Given the description of an element on the screen output the (x, y) to click on. 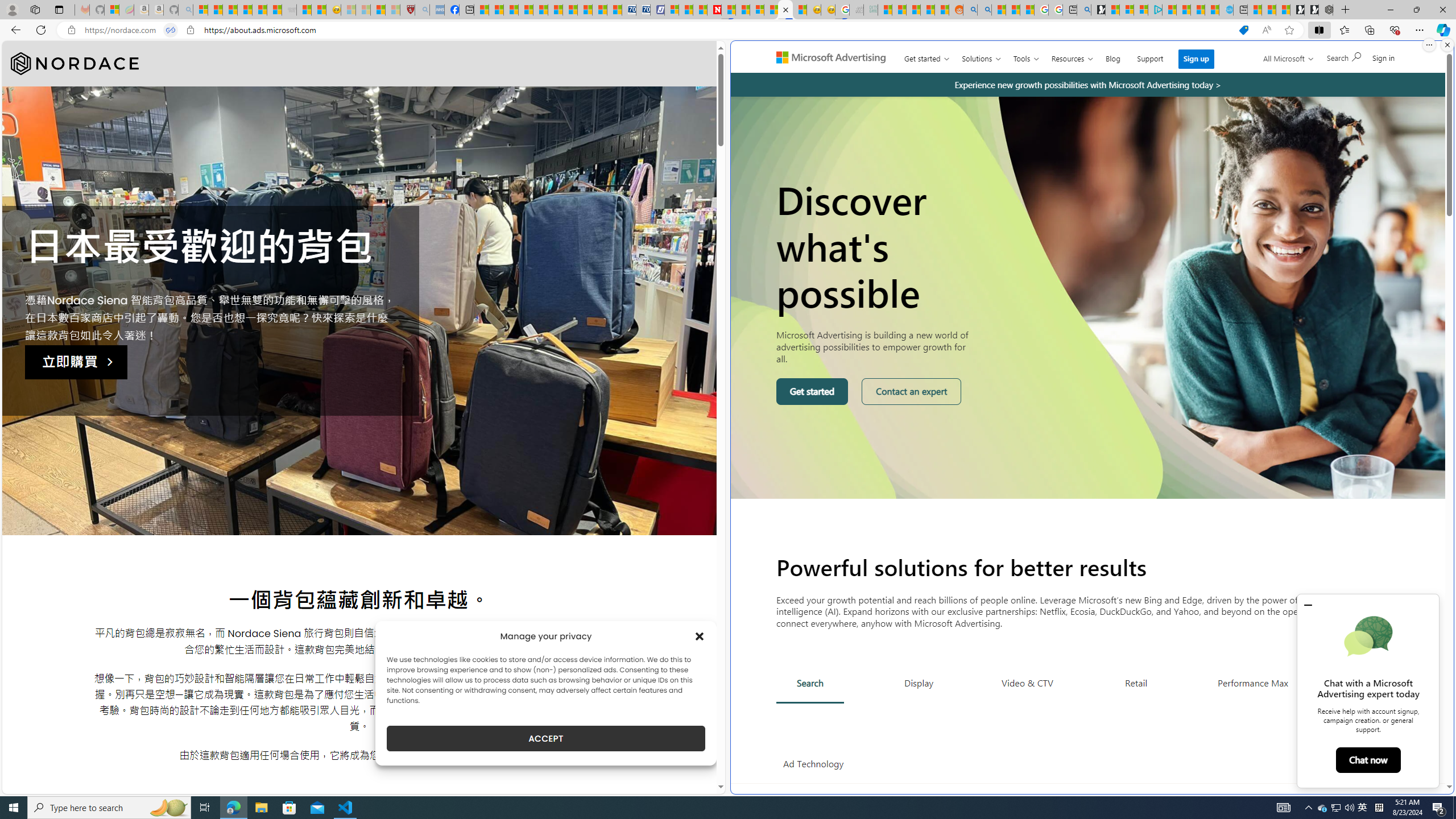
12 Popular Science Lies that Must be Corrected - Sleeping (392, 9)
Blog (1112, 56)
Combat Siege - Sleeping (288, 9)
Display (918, 682)
Microsoft Advertising (835, 56)
